Given the description of an element on the screen output the (x, y) to click on. 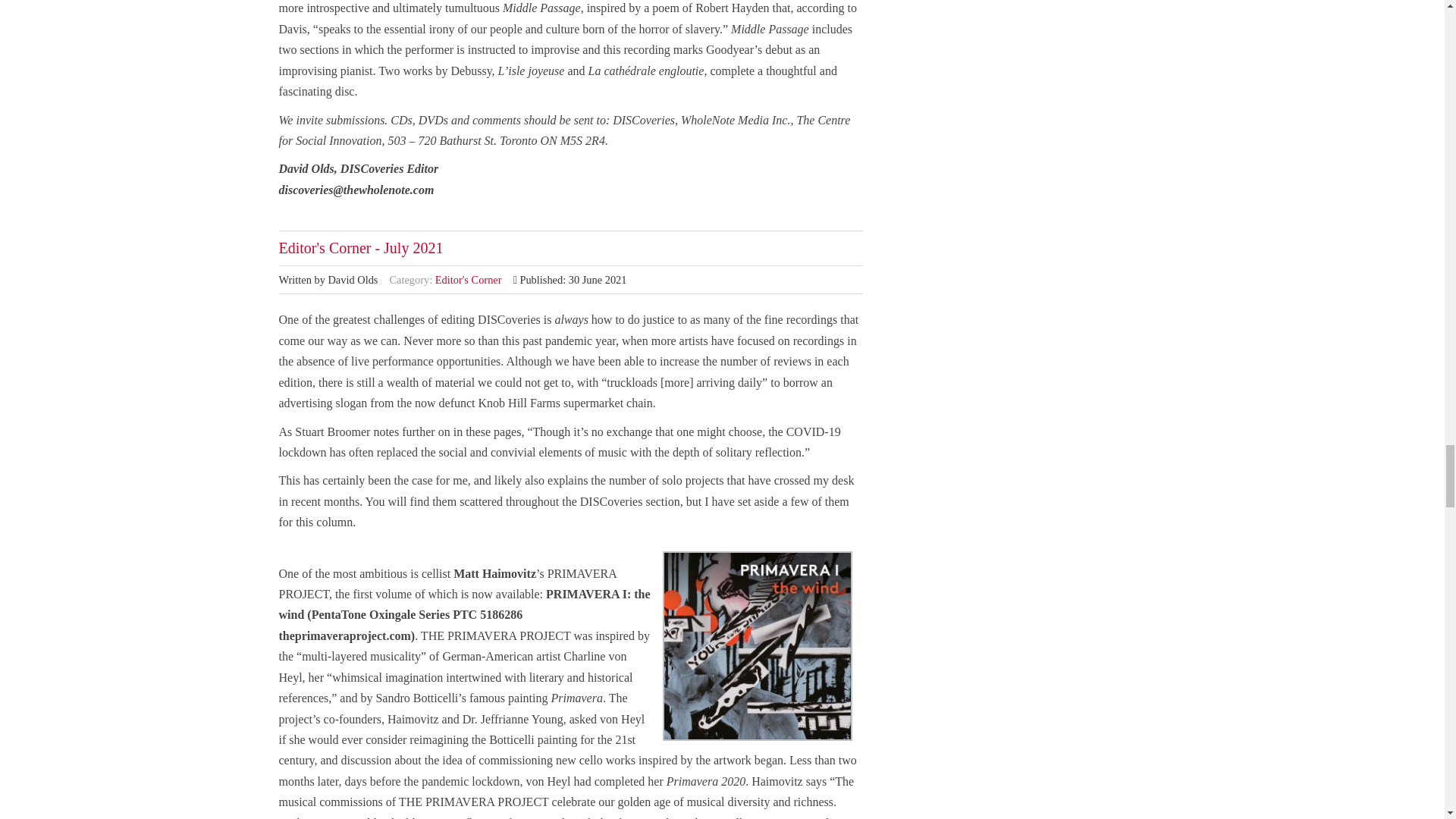
Editor's Corner - July 2021 (361, 247)
